Given the description of an element on the screen output the (x, y) to click on. 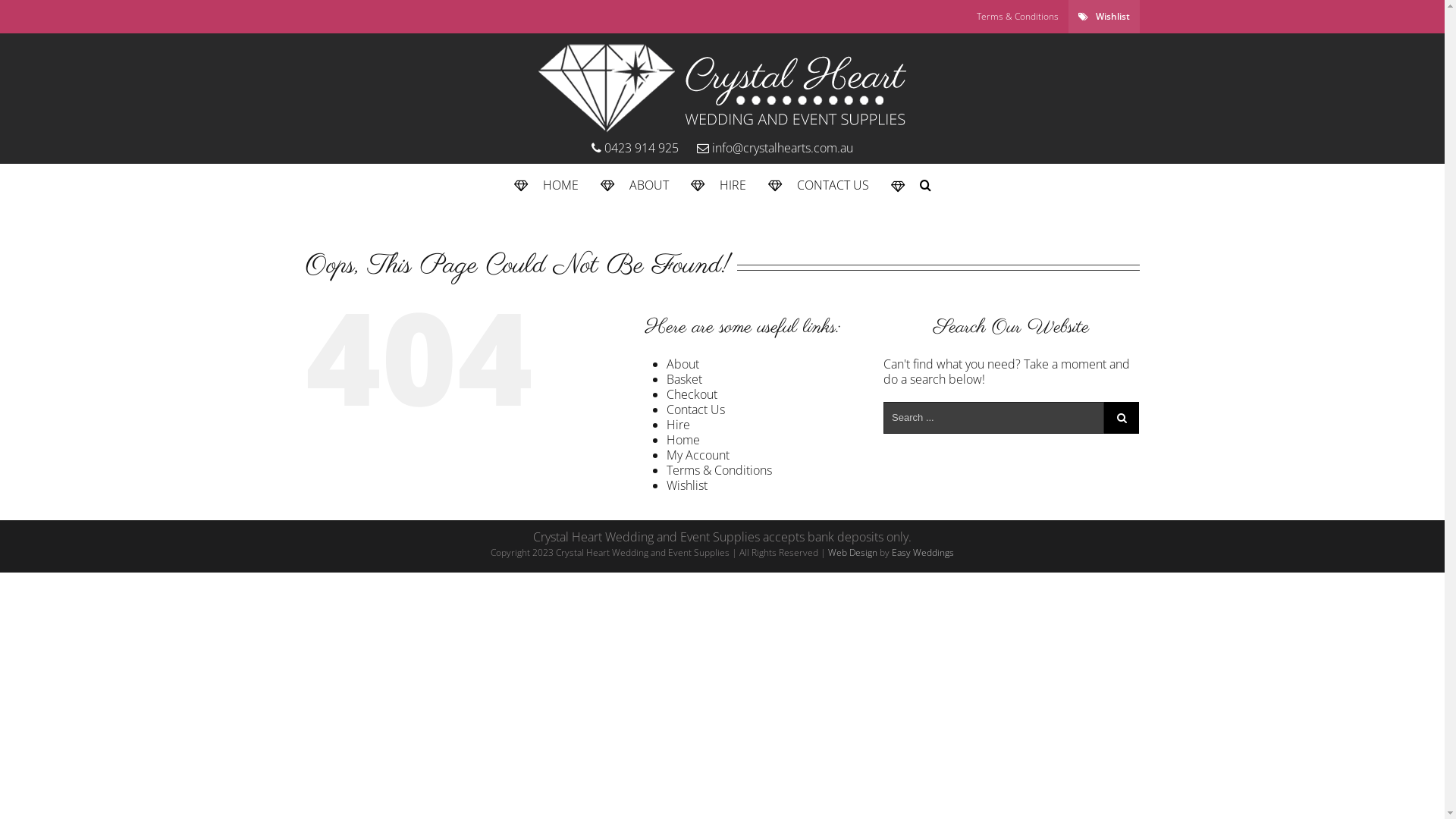
Home Element type: text (682, 439)
Terms & Conditions Element type: text (1016, 16)
Web Design Element type: text (852, 552)
About Element type: text (682, 363)
Wishlist Element type: text (686, 484)
0423 914 925 Element type: text (634, 147)
Terms & Conditions Element type: text (718, 469)
ABOUT Element type: text (634, 184)
HOME Element type: text (546, 184)
Wishlist Element type: text (1103, 16)
Checkout Element type: text (691, 393)
info@crystalhearts.com.au Element type: text (767, 147)
Basket Element type: text (684, 378)
CONTACT US Element type: text (817, 184)
Contact Us Element type: text (695, 409)
My Account Element type: text (697, 454)
HIRE Element type: text (717, 184)
Easy Weddings Element type: text (922, 552)
Hire Element type: text (678, 424)
